Given the description of an element on the screen output the (x, y) to click on. 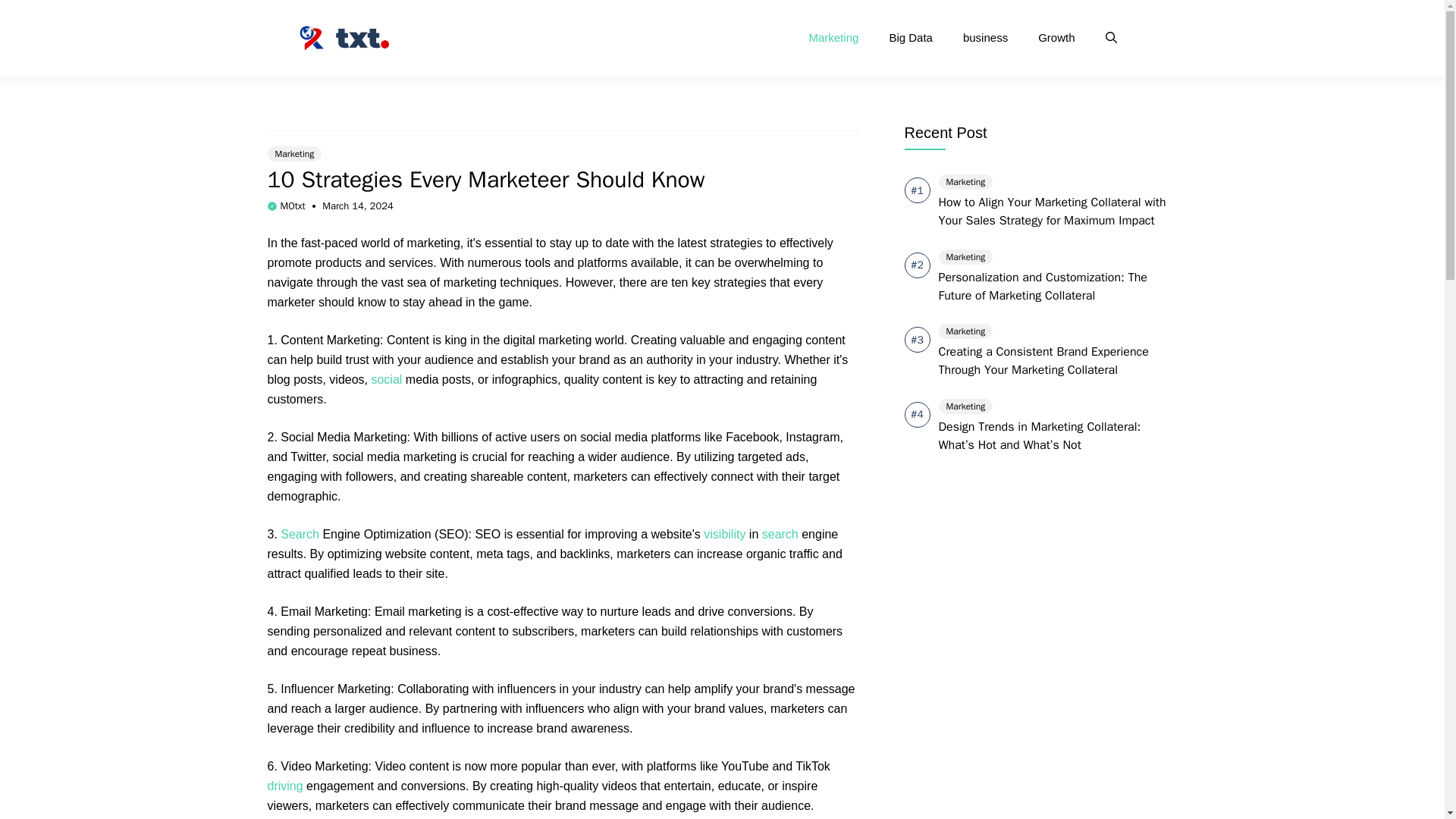
Posts tagged with Search (779, 533)
social (386, 379)
Growth (1056, 37)
Marketing (294, 153)
Posts tagged with Search (299, 533)
Big Data (910, 37)
Posts tagged with Social (386, 379)
Posts tagged with Visibility (724, 533)
Search (299, 533)
driving (284, 785)
business (985, 37)
visibility (724, 533)
Posts tagged with Driving (284, 785)
search (779, 533)
Marketing (834, 37)
